Given the description of an element on the screen output the (x, y) to click on. 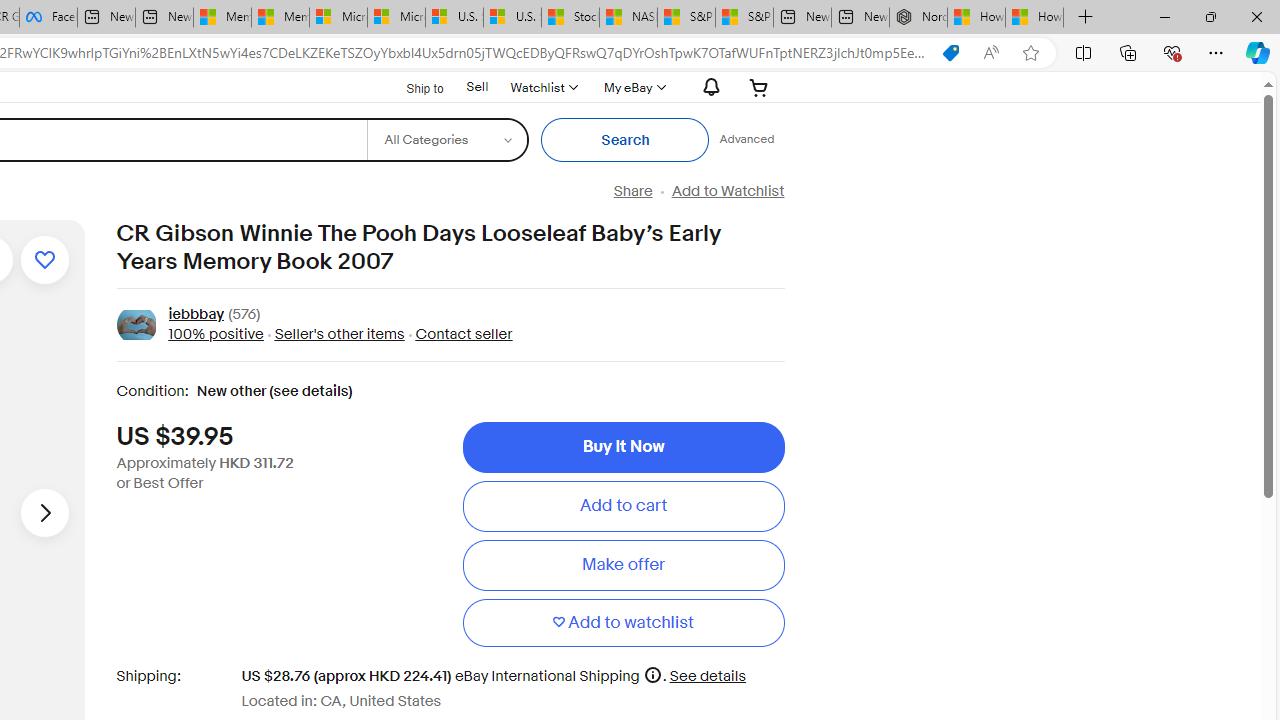
Your shopping cart (759, 87)
Notifications (706, 87)
Add to watchlist (44, 259)
Add to cart (623, 506)
Watchlist (543, 87)
Expand Cart (759, 87)
Advanced Search (746, 139)
Add to Watchlist (727, 191)
S&P 500, Nasdaq end lower, weighed by Nvidia dip | Watch (744, 17)
Sell (477, 86)
Make offer (623, 565)
Make offer (623, 565)
Next image - Item images thumbnails (44, 512)
